Given the description of an element on the screen output the (x, y) to click on. 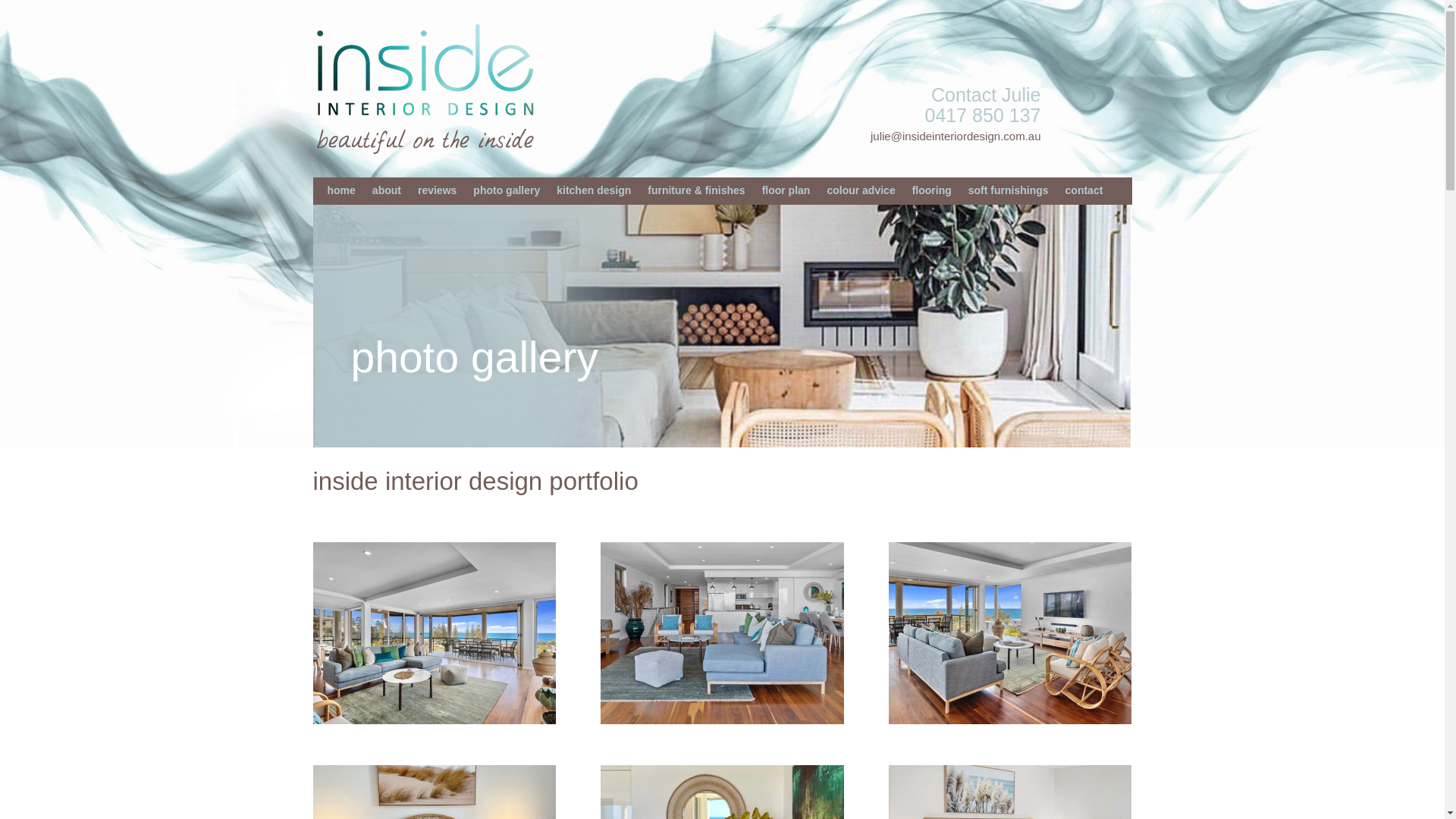
about Element type: text (386, 190)
colour advice Element type: text (860, 190)
home Element type: text (341, 190)
photo gallery Element type: text (506, 190)
furniture & finishes Element type: text (695, 190)
contact Element type: text (1084, 190)
  Element type: text (1130, 130)
kitchen design Element type: text (593, 190)
flooring Element type: text (931, 190)
soft furnishings Element type: text (1008, 190)
reviews Element type: text (436, 190)
floor plan Element type: text (786, 190)
